Given the description of an element on the screen output the (x, y) to click on. 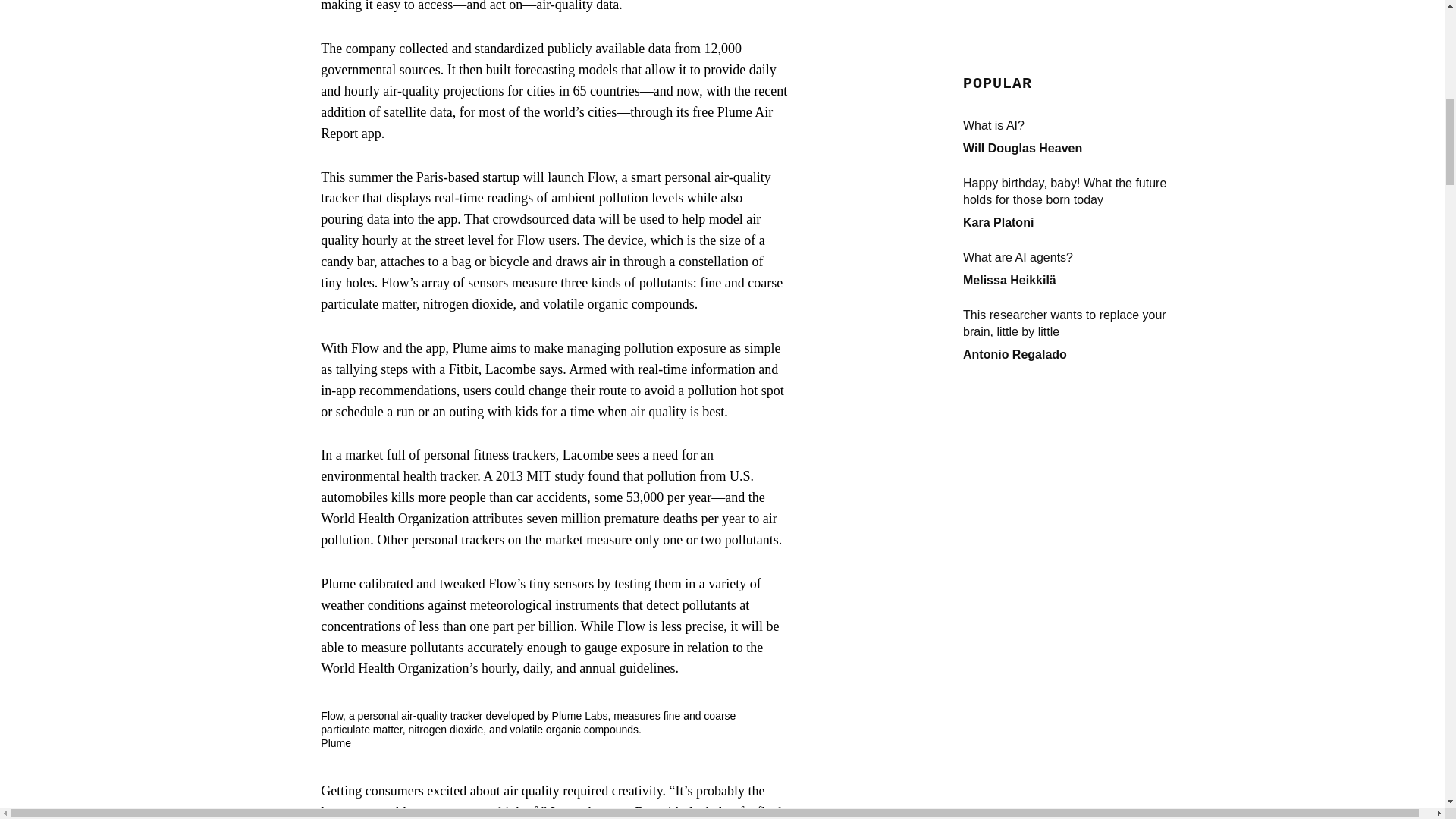
Antonio Regalado (1014, 259)
Kara Platoni (997, 128)
What are AI agents?  (1075, 163)
What is AI? (1075, 31)
Will Douglas Heaven (1021, 53)
